Given the description of an element on the screen output the (x, y) to click on. 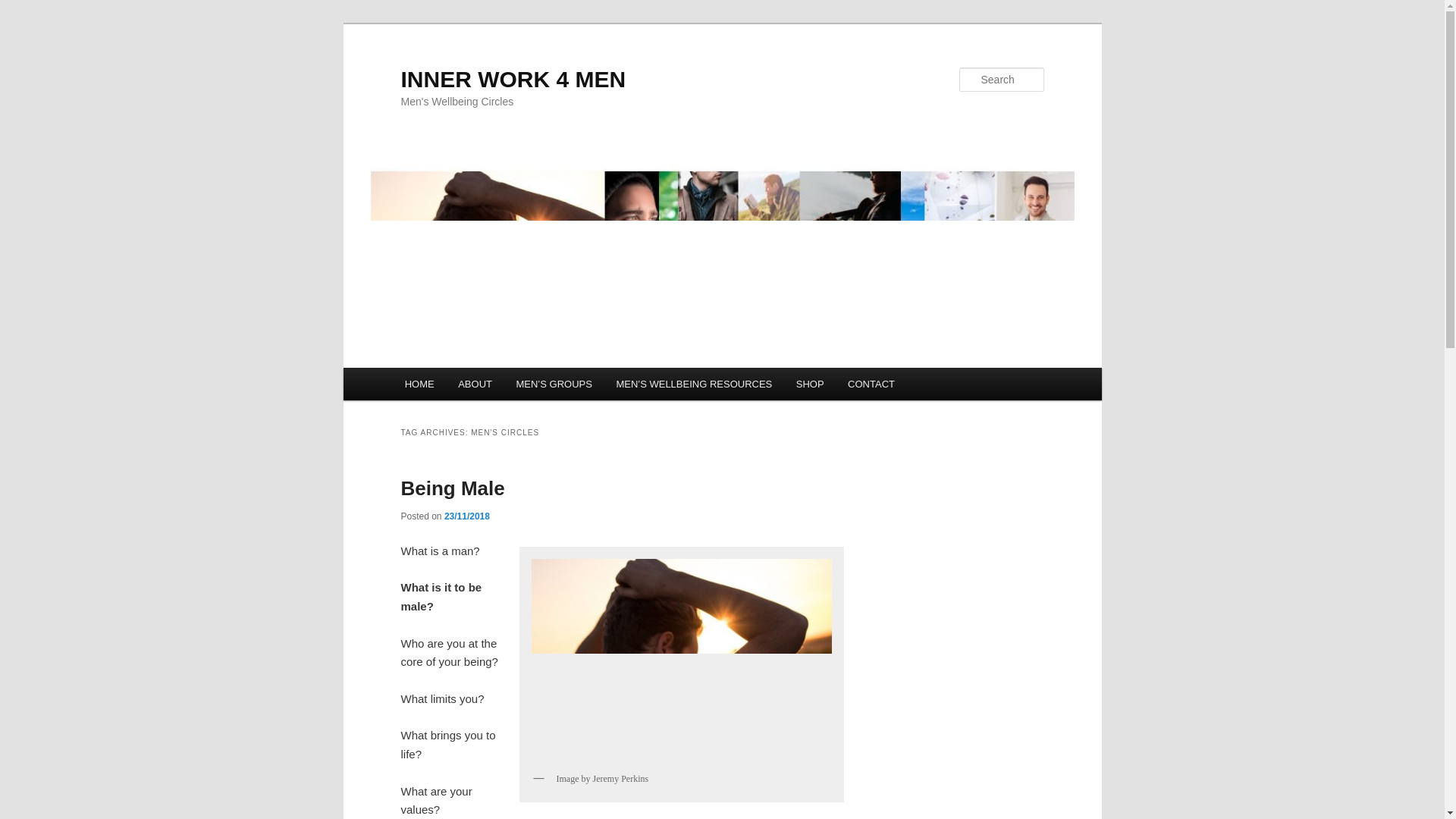
Being Male (451, 487)
INNER WORK 4 MEN (513, 78)
SHOP (809, 383)
10:11 am (466, 516)
Search (24, 8)
ABOUT (474, 383)
CONTACT (870, 383)
HOME (419, 383)
